Given the description of an element on the screen output the (x, y) to click on. 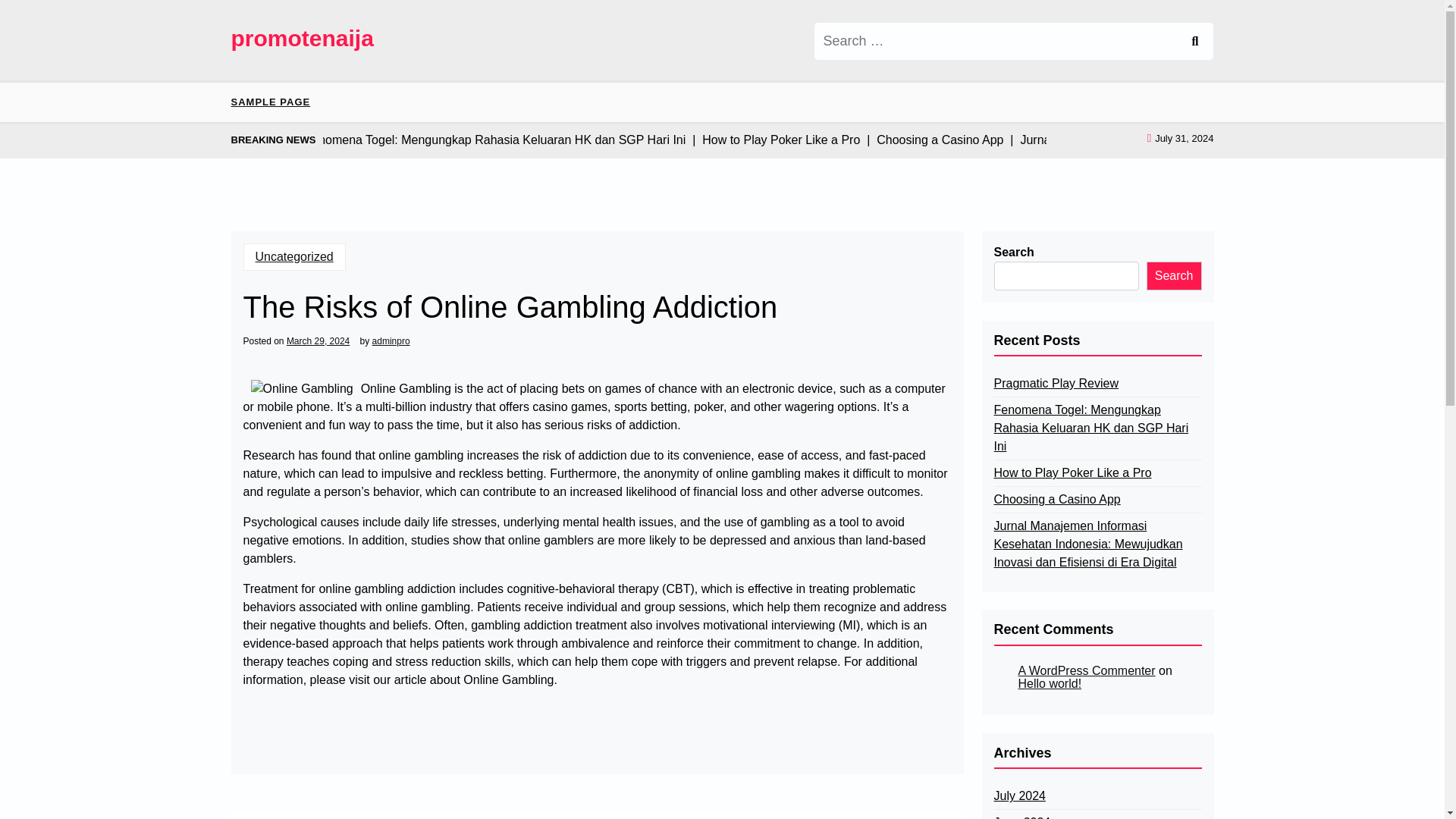
Search (1193, 40)
March 29, 2024 (317, 340)
July 2024 (1018, 796)
Pragmatic Play Review (1055, 383)
Hello world! (1049, 684)
SAMPLE PAGE (275, 102)
adminpro (391, 340)
Search (1193, 40)
promotenaija (301, 37)
A WordPress Commenter (1085, 671)
Search (1174, 275)
Search (1193, 40)
How to Play Poker Like a Pro (1071, 473)
Uncategorized (294, 256)
